Given the description of an element on the screen output the (x, y) to click on. 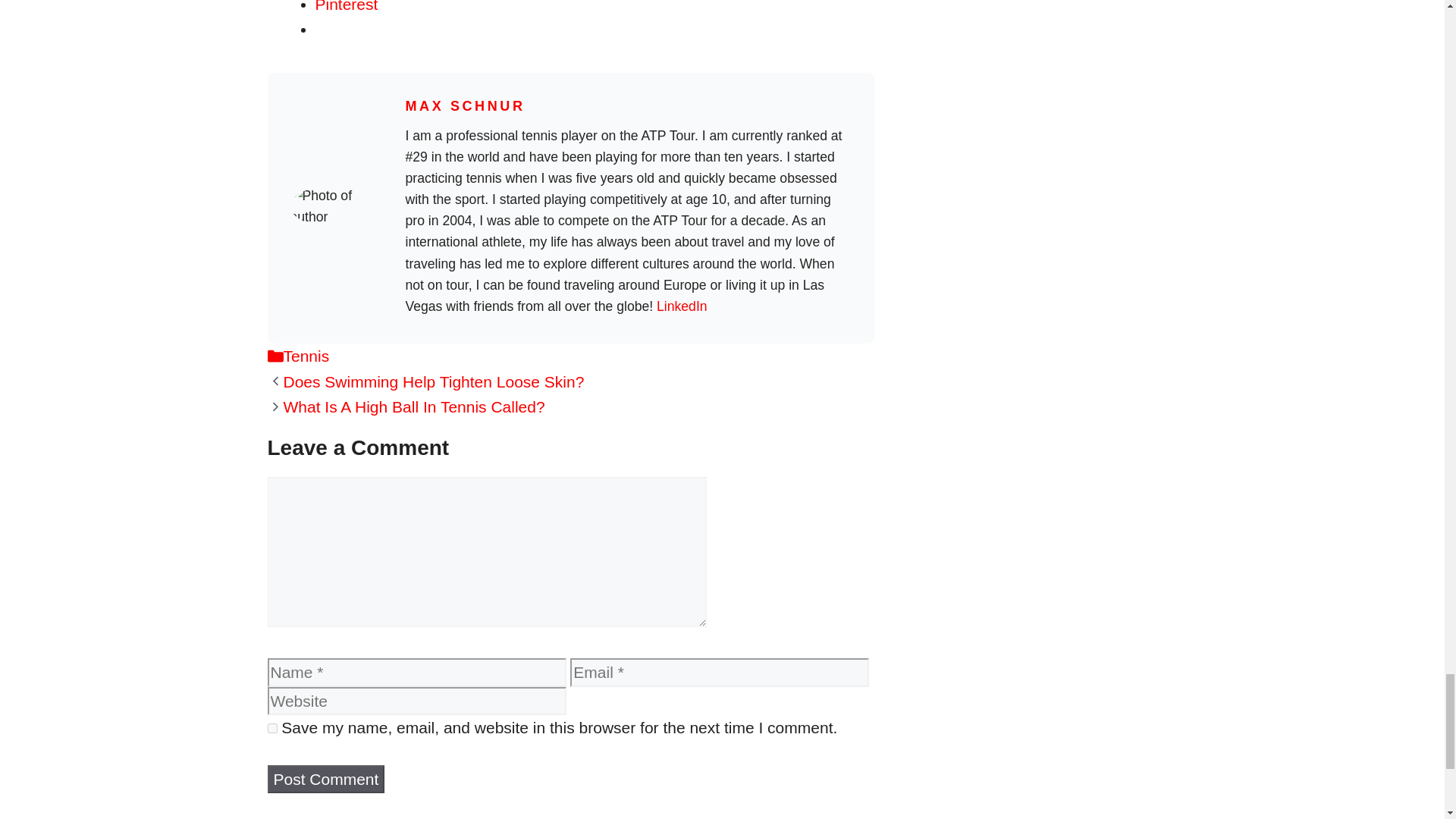
MAX SCHNUR (464, 105)
LinkedIn (681, 305)
What Is A High Ball In Tennis Called? (413, 406)
Pinterest (346, 6)
Post Comment (325, 778)
Tennis (306, 355)
yes (271, 728)
Post Comment (325, 778)
Click to share on Pinterest (346, 6)
Categories (274, 355)
